Given the description of an element on the screen output the (x, y) to click on. 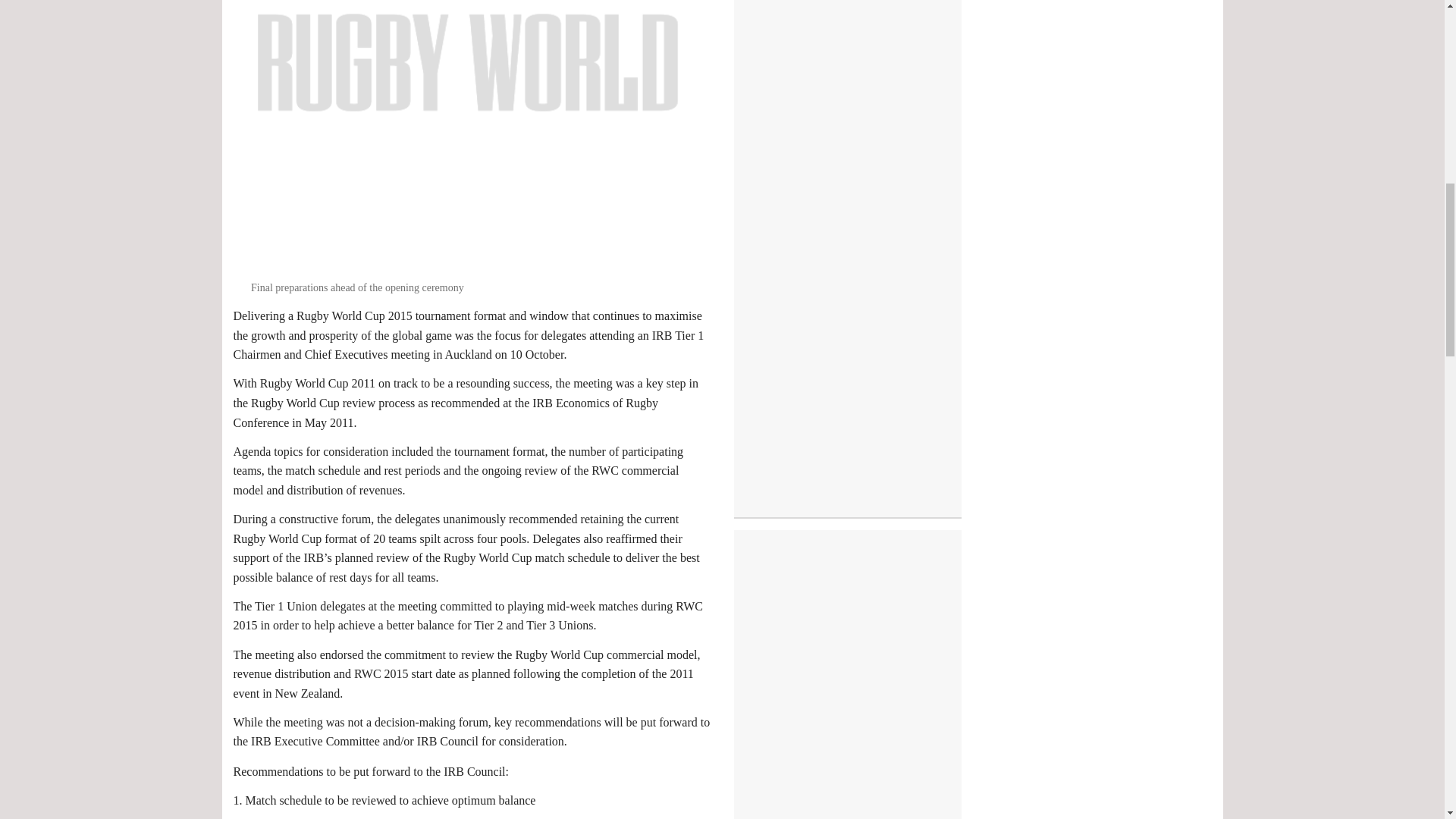
world cup flag (467, 140)
